Given the description of an element on the screen output the (x, y) to click on. 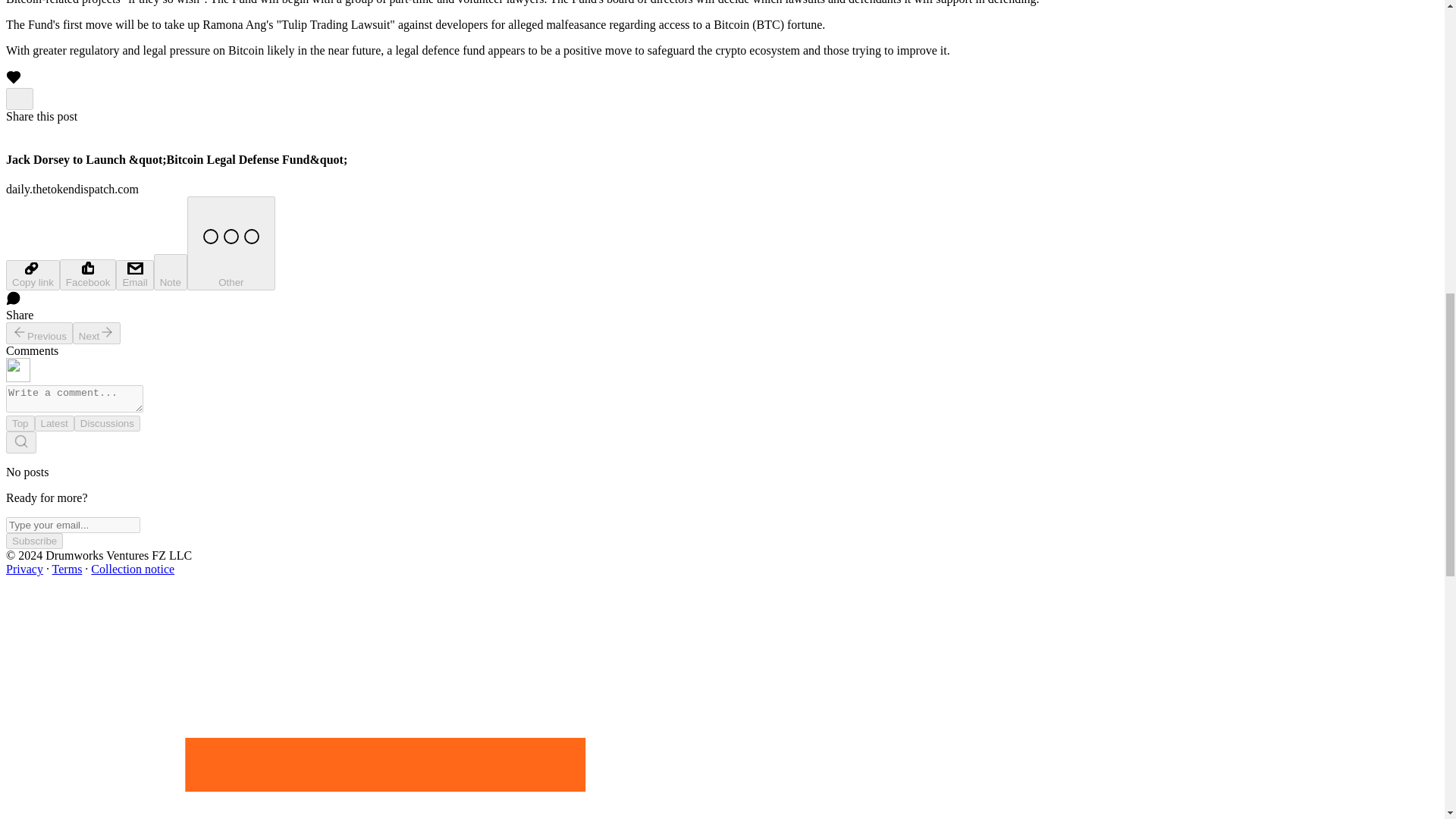
Next (96, 332)
Discussions (106, 423)
Latest (54, 423)
Top (19, 423)
Other (231, 243)
Note (170, 271)
Copy link (32, 275)
Email (134, 275)
Facebook (87, 274)
Previous (38, 332)
